Given the description of an element on the screen output the (x, y) to click on. 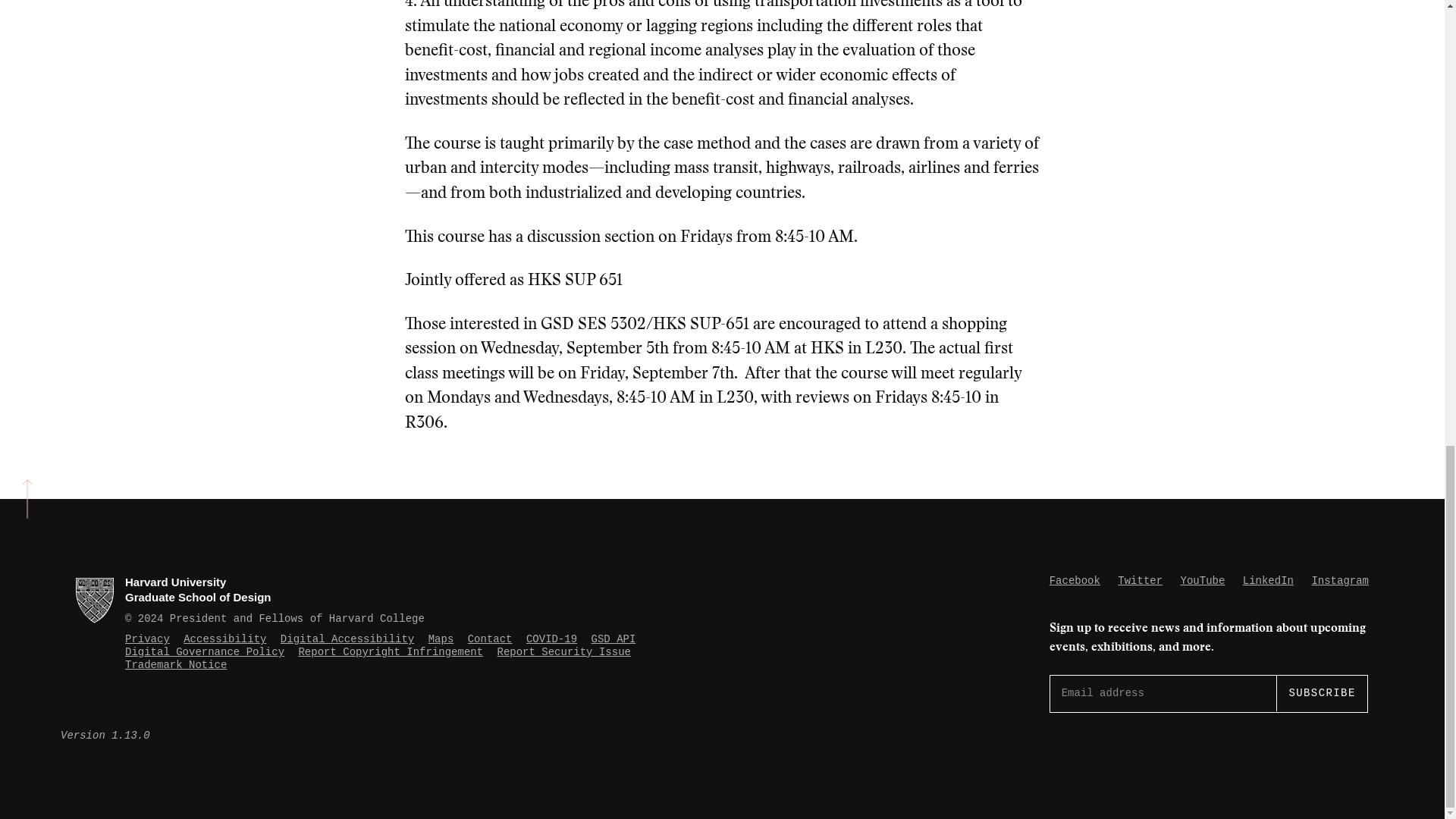
Subscribe (1321, 693)
